Given the description of an element on the screen output the (x, y) to click on. 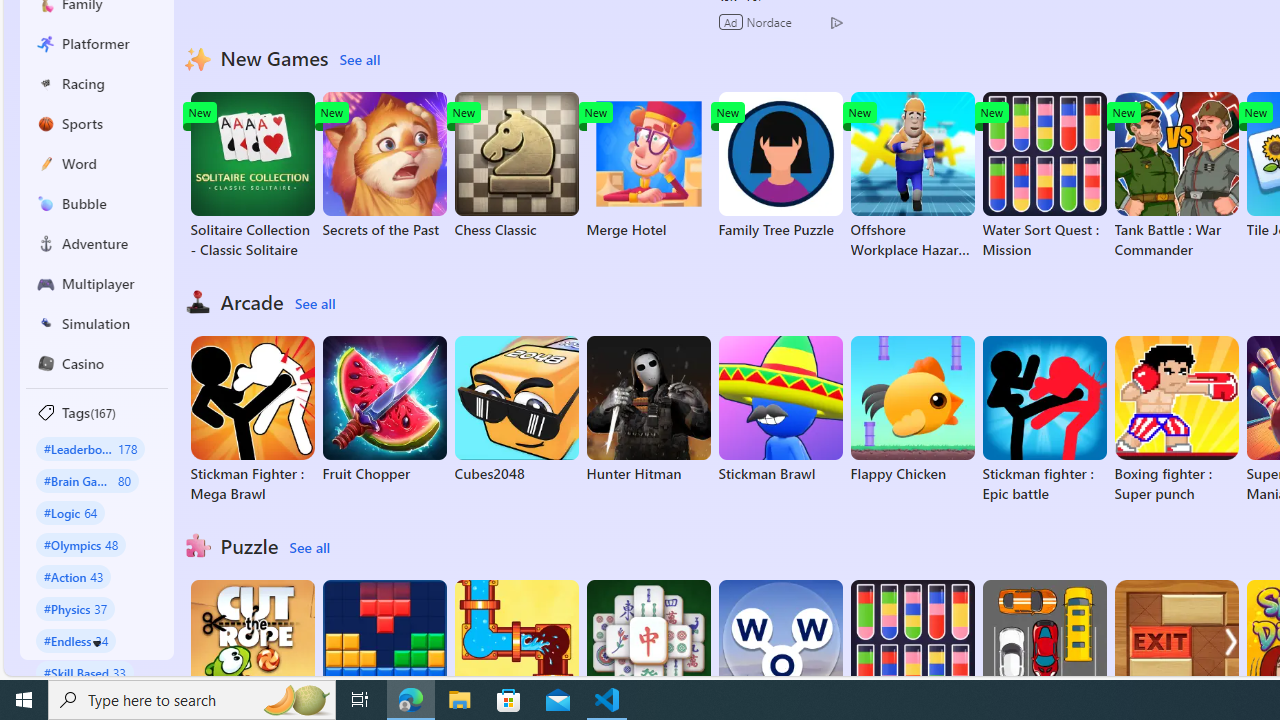
Stickman fighter : Epic battle (1044, 419)
Secrets of the Past (384, 165)
Family Tree Puzzle (780, 165)
#Action 43 (73, 575)
Water Sort Quest : Mission (1044, 175)
#Olympics 48 (80, 544)
#Leaderboard 178 (90, 448)
Stickman Fighter : Mega Brawl (251, 419)
#Skill Based 33 (84, 672)
#Endless 34 (75, 640)
